Given the description of an element on the screen output the (x, y) to click on. 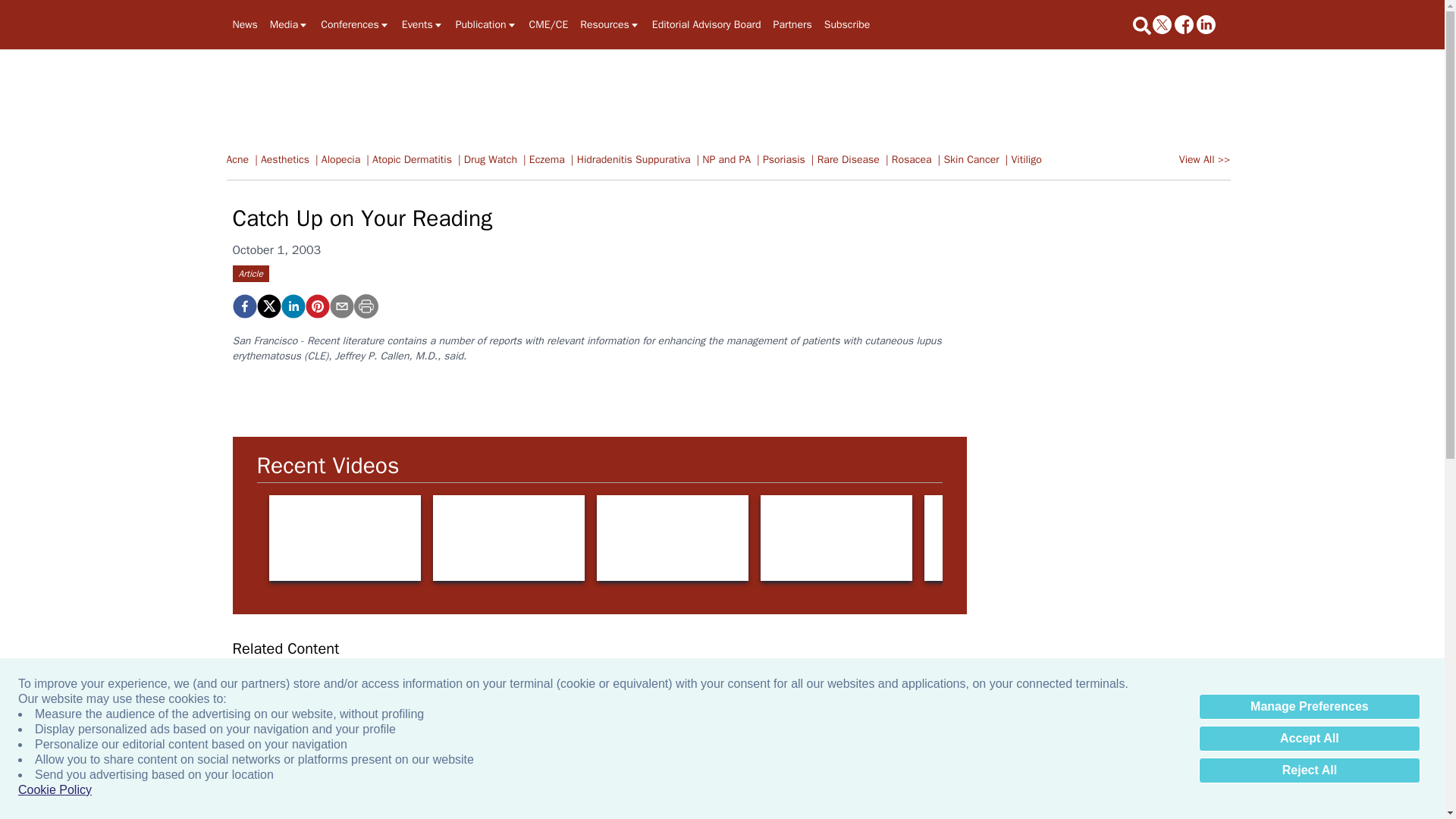
Manage Preferences (1309, 706)
News (244, 23)
Catch Up on Your Reading (243, 306)
Accept All (1309, 738)
Subscribe (847, 23)
Partners (792, 23)
The Weekly Roundup: August 26-30 (304, 750)
Reject All (1309, 769)
Catch Up on Your Reading (316, 306)
Editorial Advisory Board (706, 23)
